Given the description of an element on the screen output the (x, y) to click on. 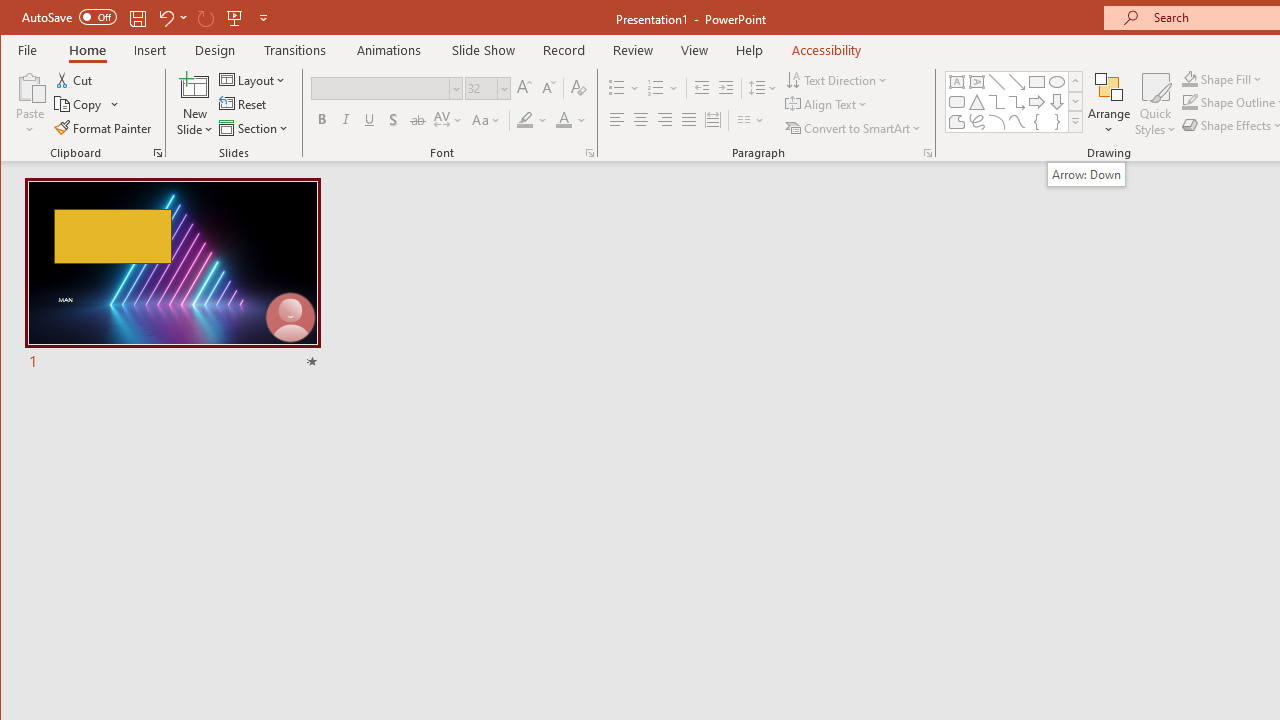
Align Text (828, 103)
Reset (244, 103)
Underline (369, 119)
Align Right (664, 119)
Justify (689, 119)
